Given the description of an element on the screen output the (x, y) to click on. 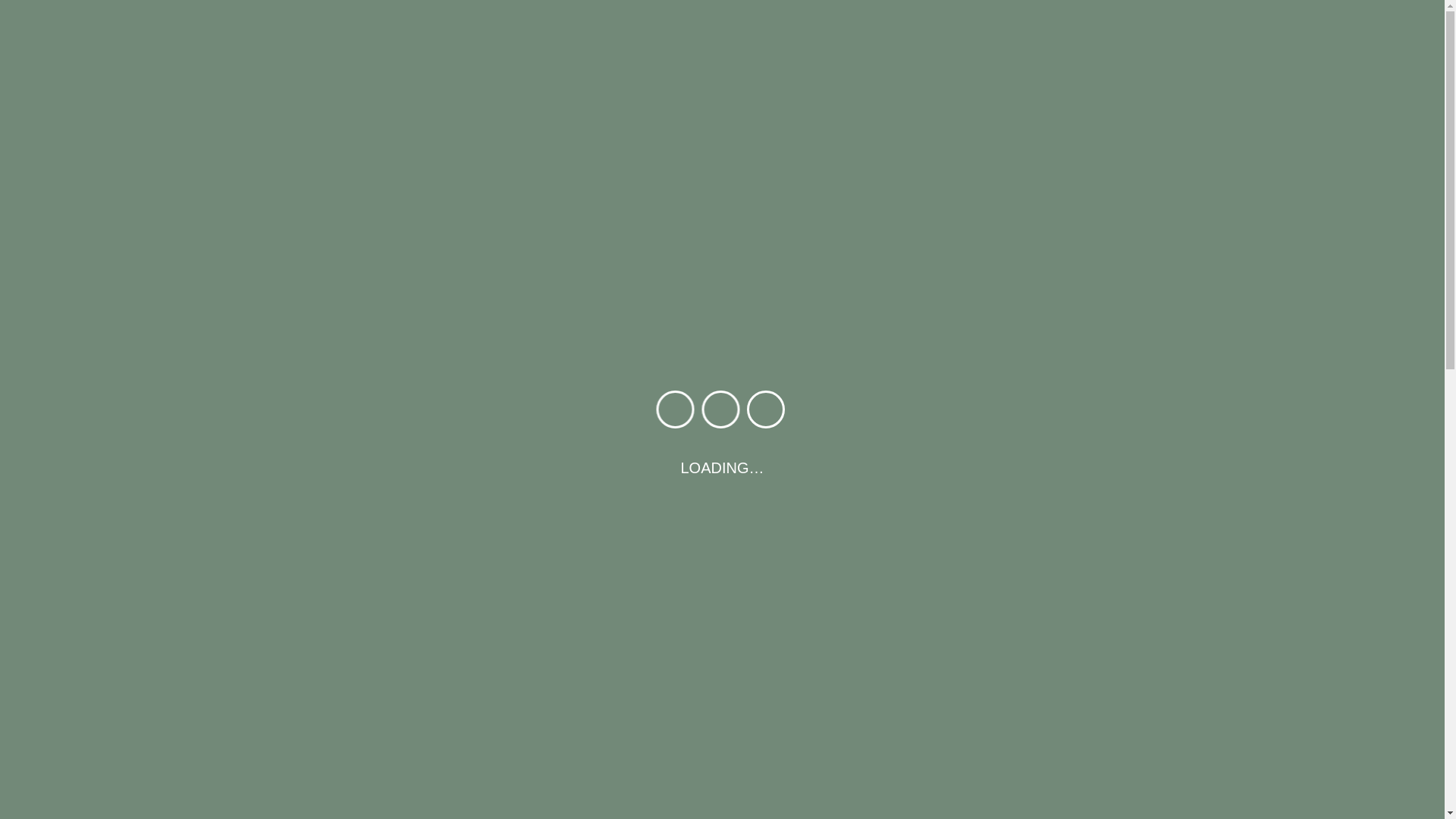
DE Element type: text (1307, 800)
info@aquatron.be Element type: text (942, 23)
Prijzen & info Element type: text (827, 77)
NL Element type: text (1176, 800)
EN Element type: text (1219, 800)
Reserveren Element type: text (1025, 77)
Faciliteiten Element type: text (738, 77)
+32 (0)11 68 08 90 Element type: text (1084, 23)
Cadeaubonnen Element type: text (928, 77)
FR Element type: text (1263, 800)
Home Element type: text (667, 77)
Contact Element type: text (1102, 77)
